Given the description of an element on the screen output the (x, y) to click on. 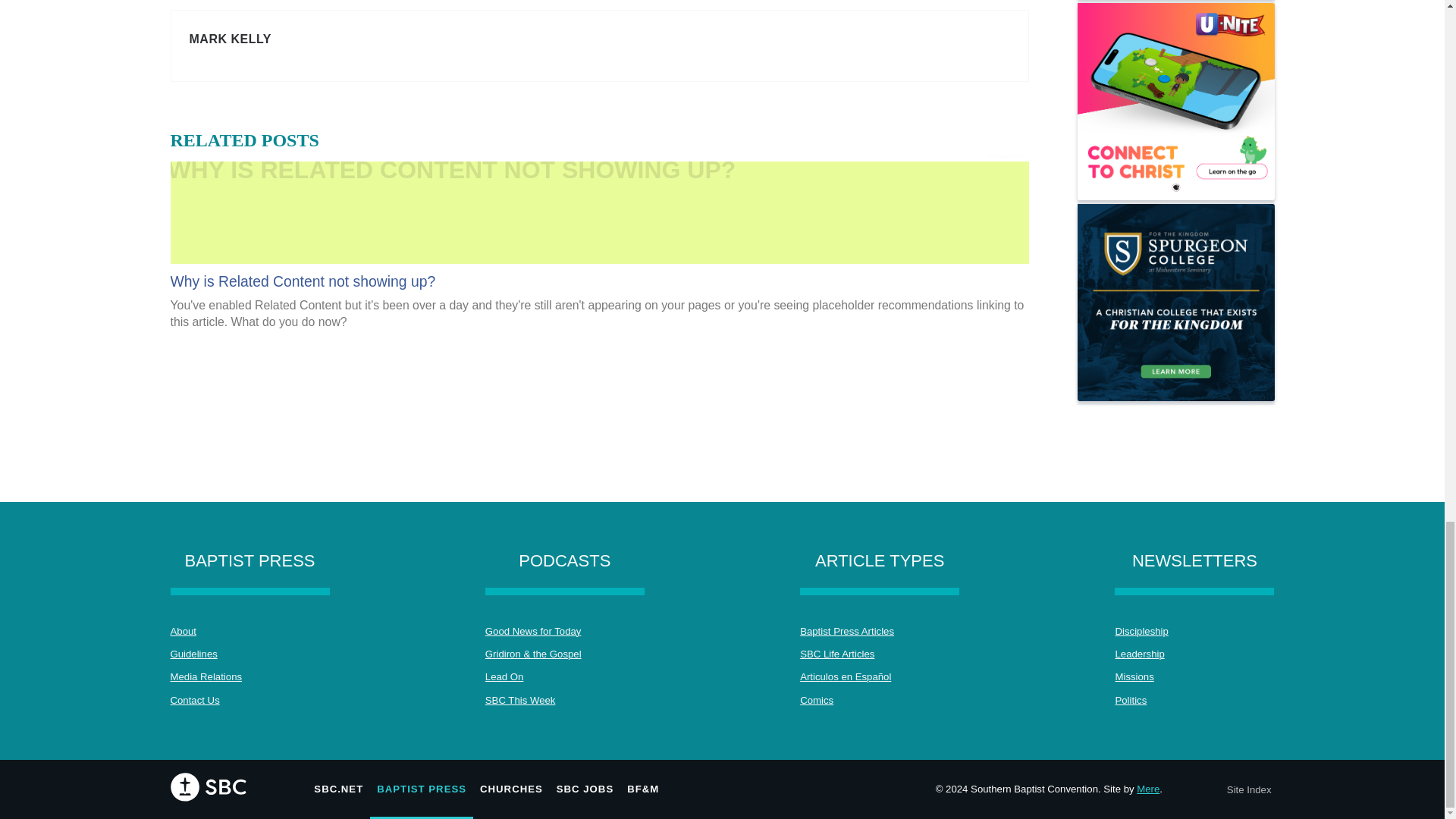
shareaholic (1006, 156)
Website Tools by Shareaholic (1006, 156)
